Given the description of an element on the screen output the (x, y) to click on. 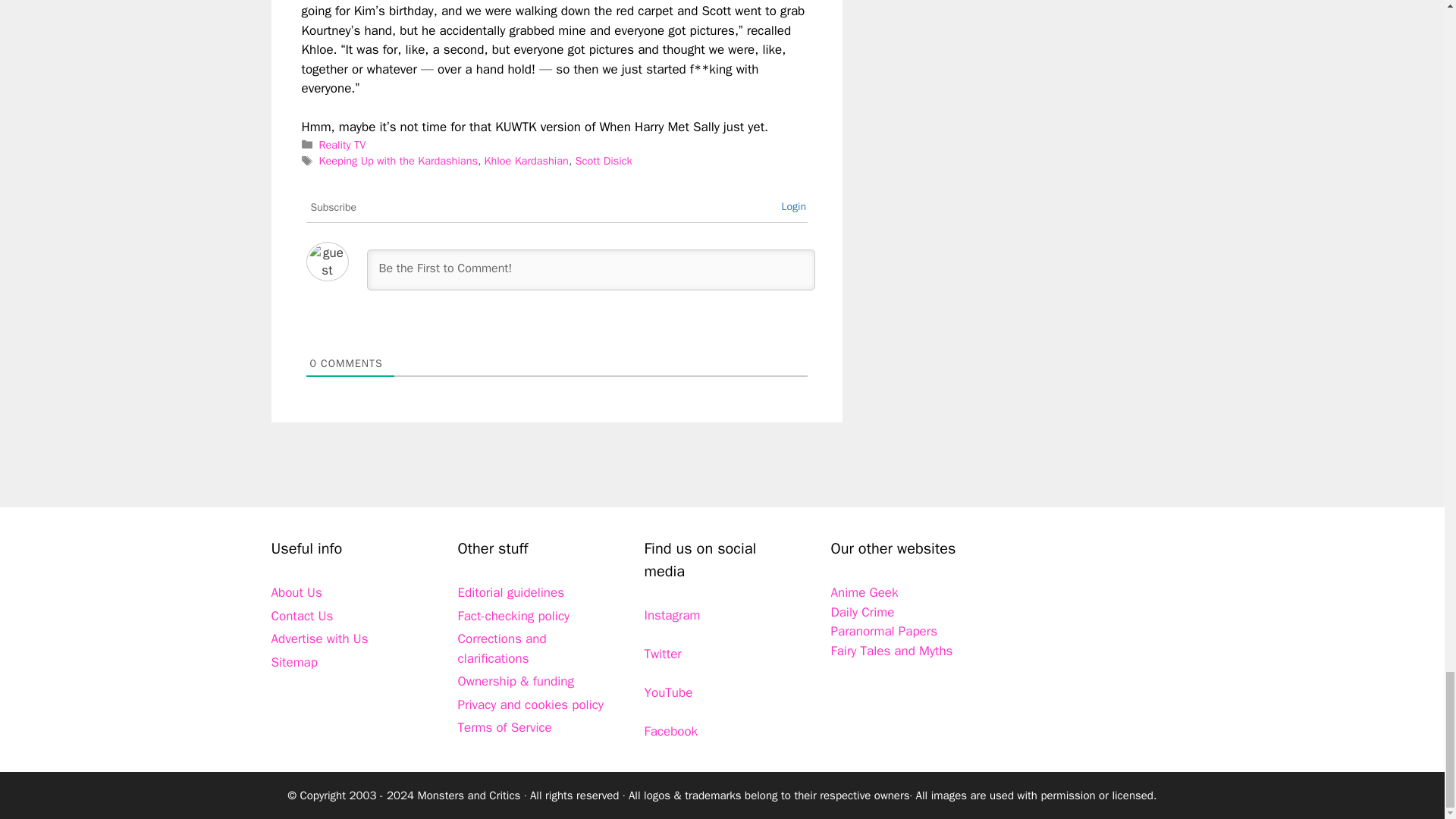
Khloe Kardashian (526, 160)
Login (793, 205)
Advertise with Us (319, 638)
Keeping Up with the Kardashians (397, 160)
Scott Disick (603, 160)
About Us (295, 592)
Reality TV (342, 144)
Contact Us (301, 616)
